Given the description of an element on the screen output the (x, y) to click on. 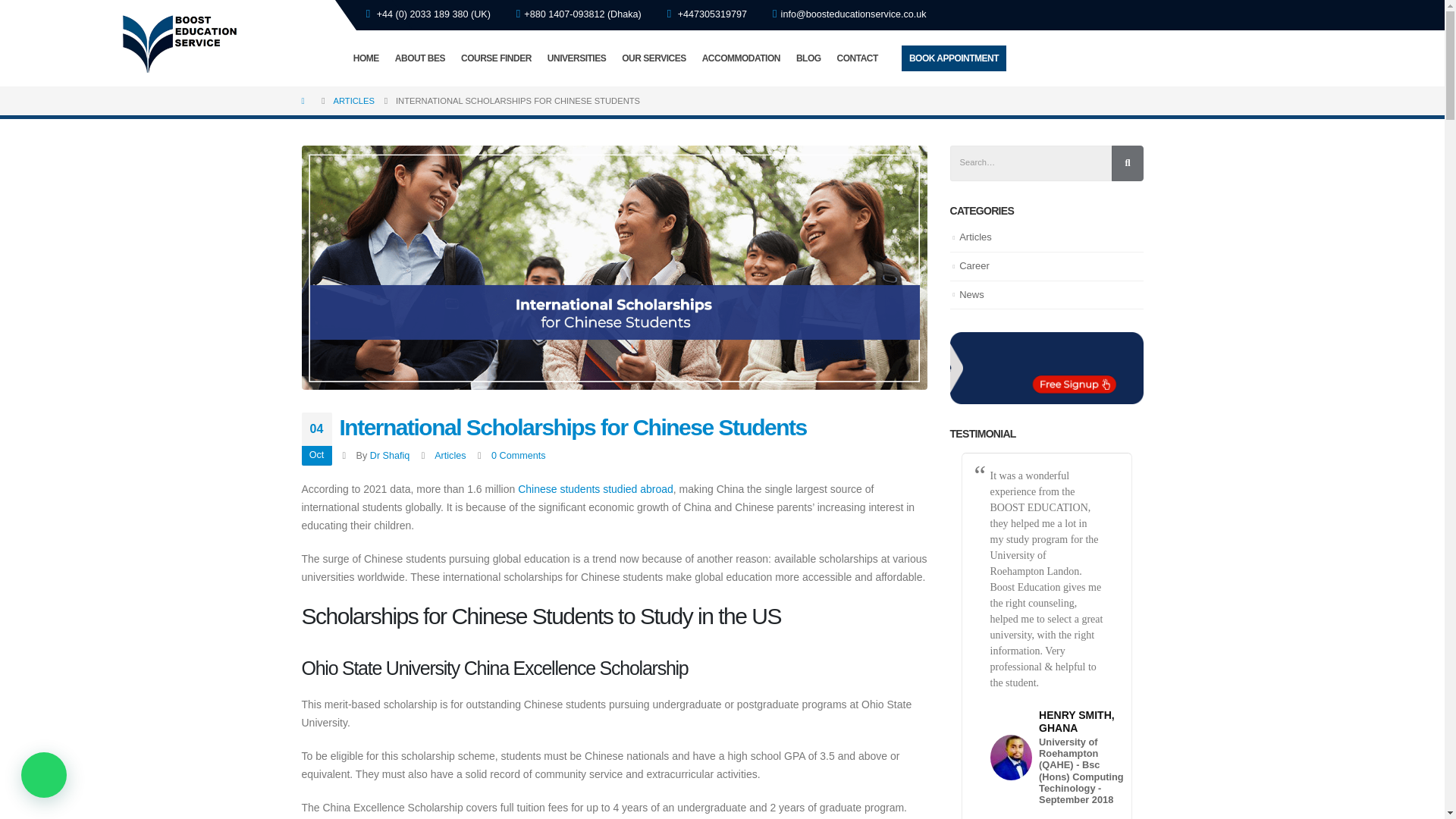
OUR SERVICES (653, 58)
COURSE FINDER (495, 58)
Posts by Dr Shafiq (389, 455)
ABOUT BES (419, 58)
BLOG (808, 58)
0 Comments (518, 455)
BOOK APPOINTMENT (953, 58)
UNIVERSITIES (576, 58)
CONTACT (857, 58)
HOME (366, 58)
ACCOMMODATION (740, 58)
